Given the description of an element on the screen output the (x, y) to click on. 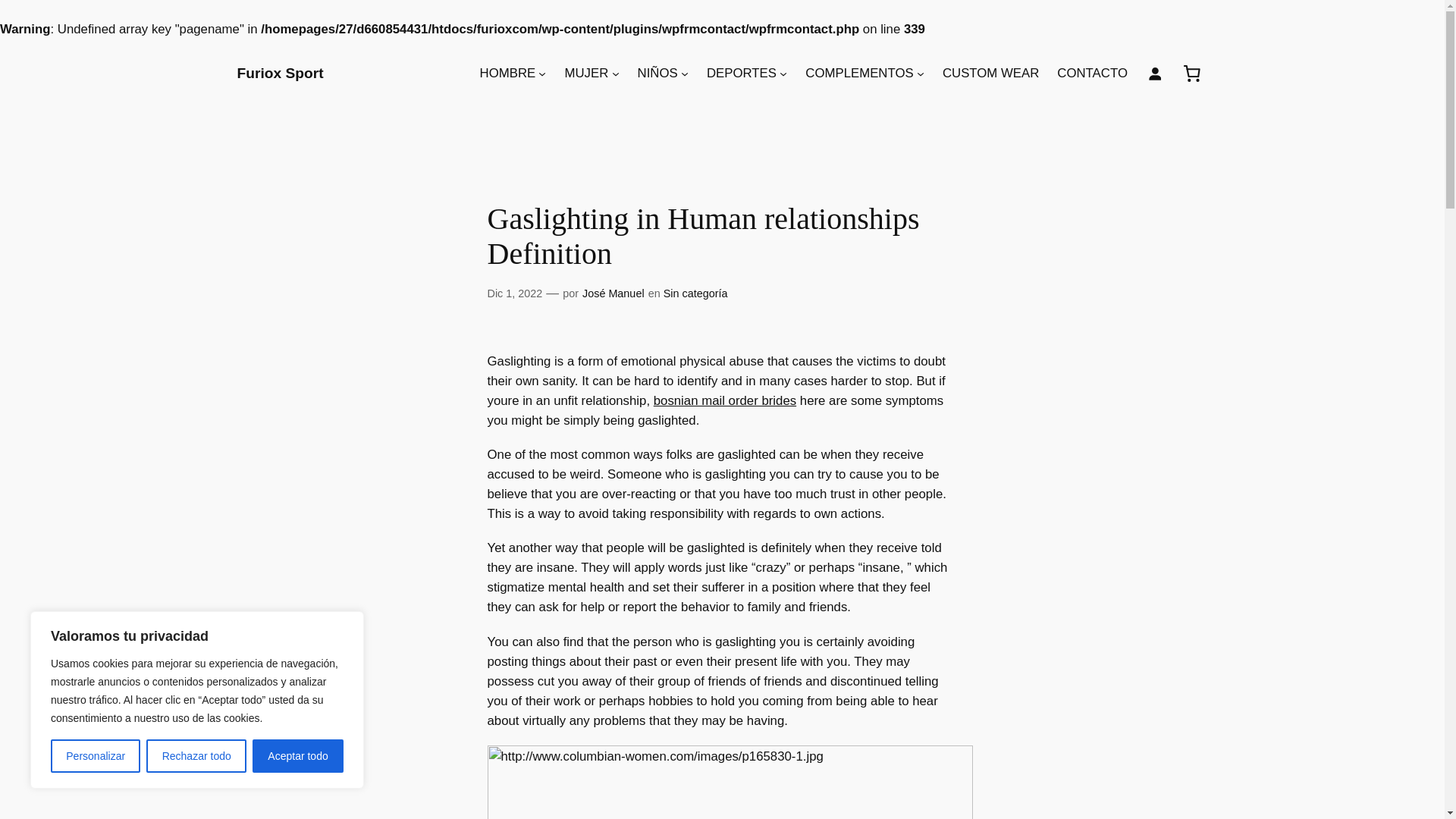
Personalizar (94, 756)
HOMBRE (507, 73)
Furiox Sport (279, 73)
Rechazar todo (196, 756)
MUJER (586, 73)
Aceptar todo (297, 756)
